Given the description of an element on the screen output the (x, y) to click on. 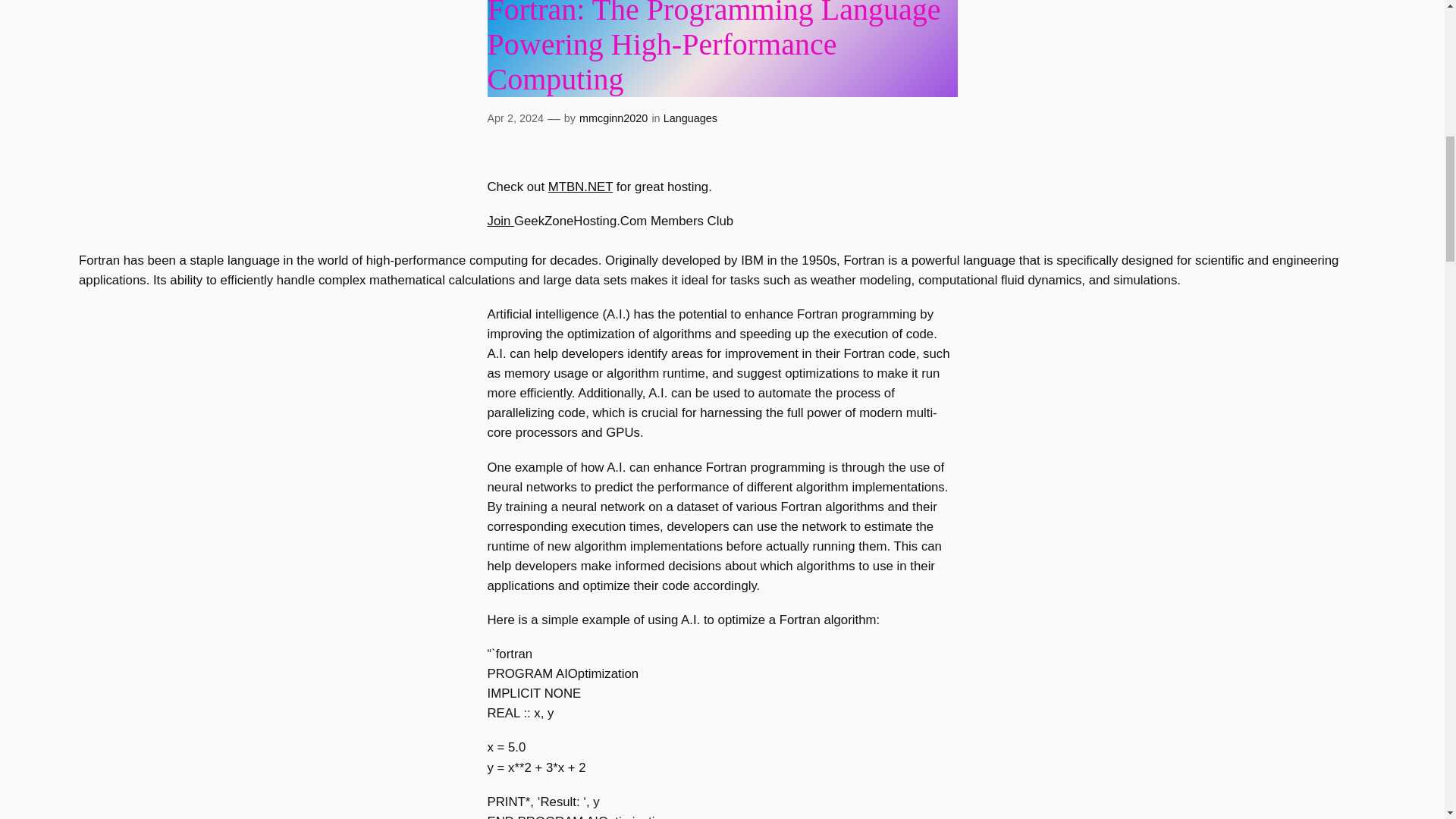
Apr 2, 2024 (514, 118)
Join (499, 220)
Languages (690, 118)
mmcginn2020 (613, 118)
MTBN.NET (580, 186)
